Given the description of an element on the screen output the (x, y) to click on. 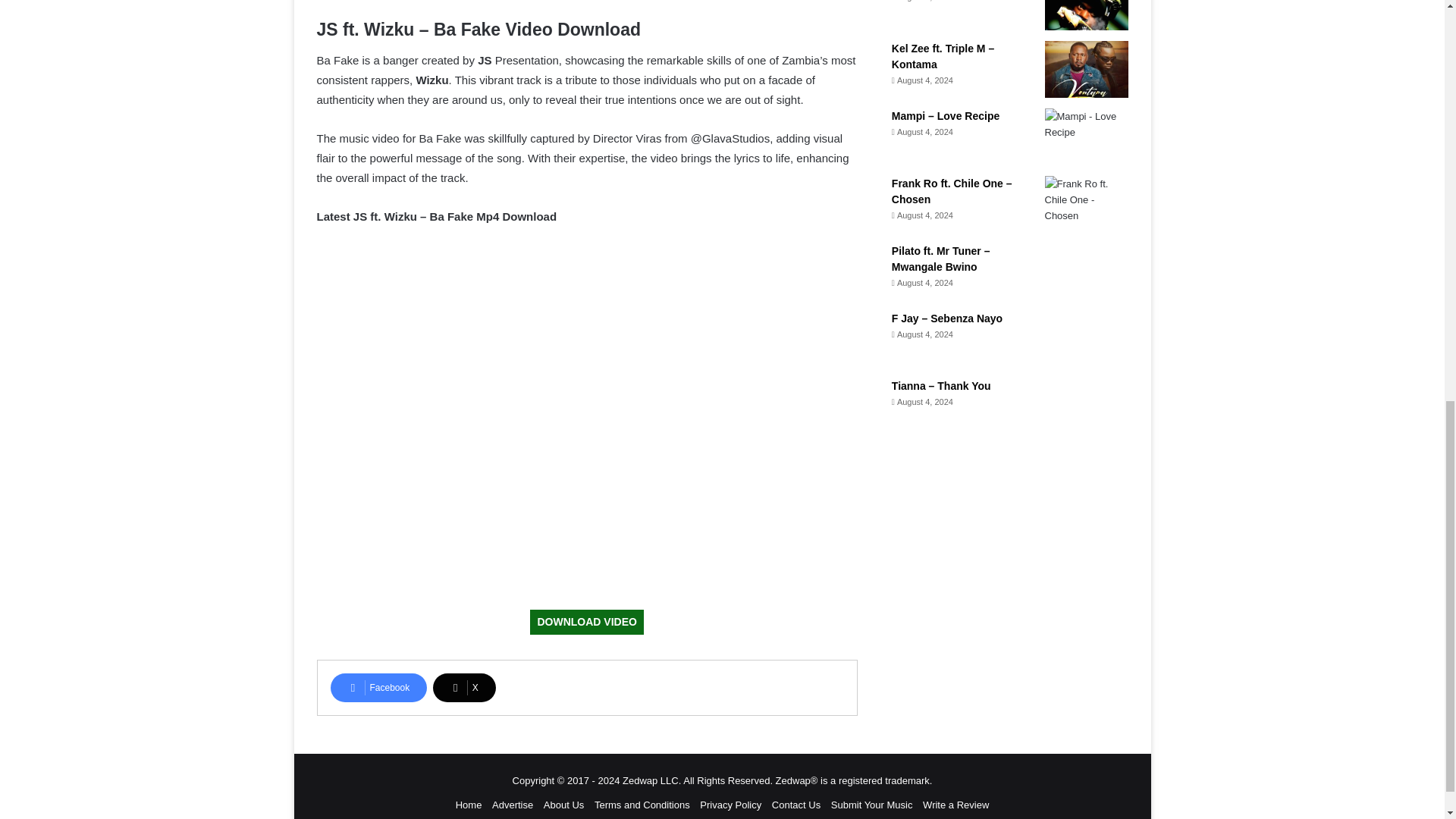
X (464, 687)
DOWNLOAD VIDEO (586, 621)
Facebook (379, 687)
Facebook (379, 687)
